Given the description of an element on the screen output the (x, y) to click on. 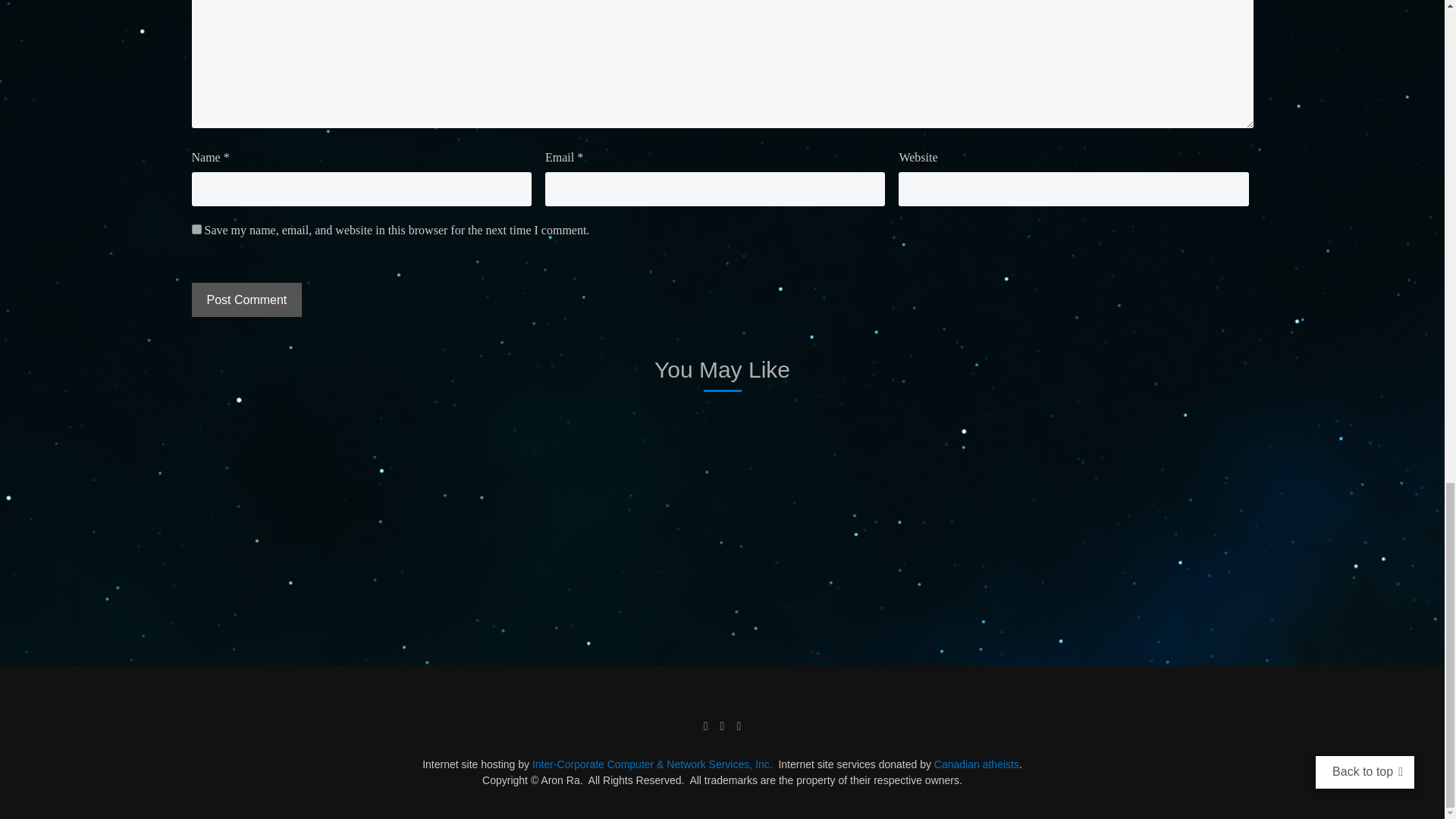
Post Comment (245, 299)
Post Comment (245, 299)
yes (195, 229)
Canadian atheists (976, 764)
